Given the description of an element on the screen output the (x, y) to click on. 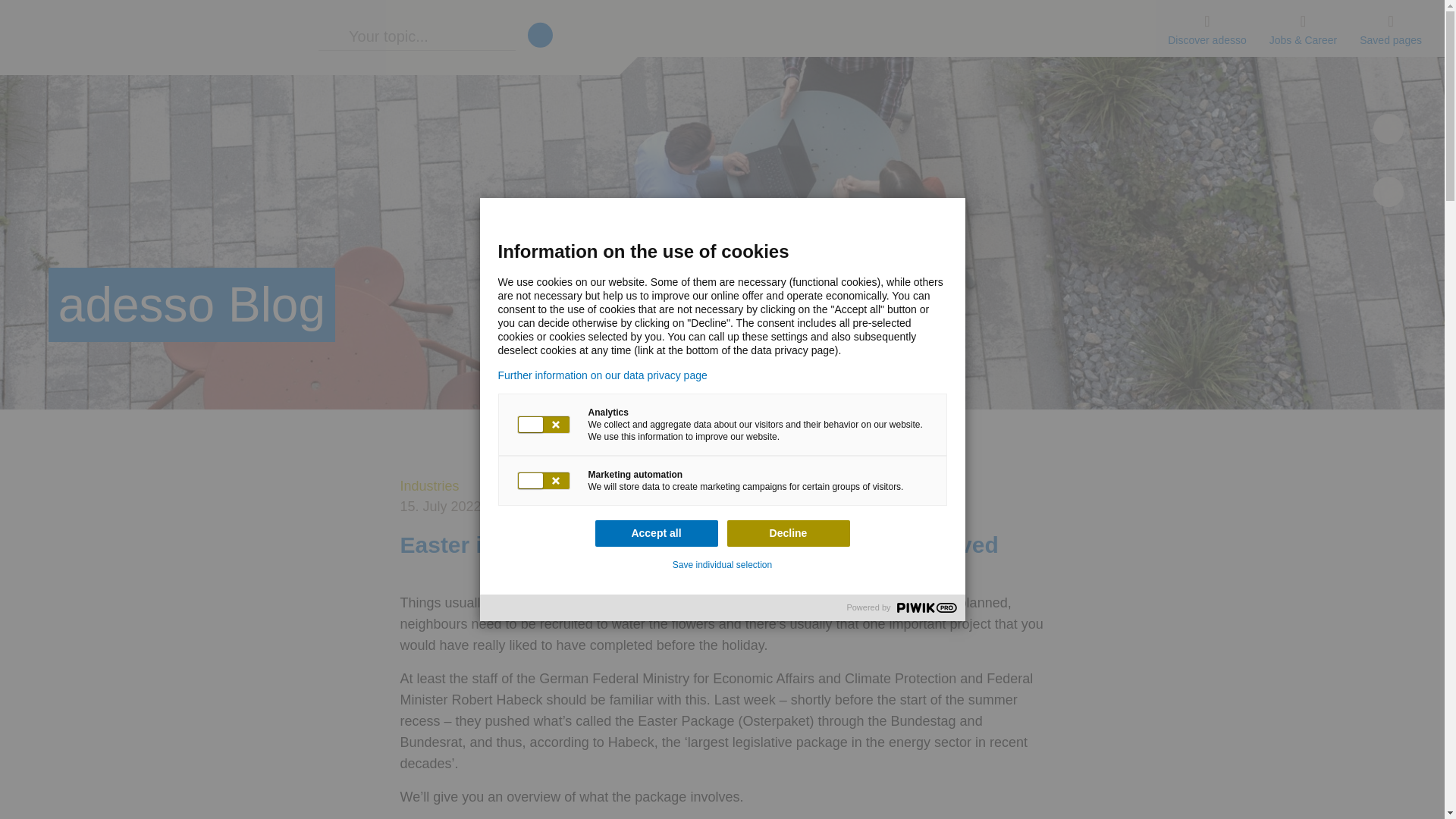
Discover adesso (1206, 28)
Saved pages (1390, 28)
